Given the description of an element on the screen output the (x, y) to click on. 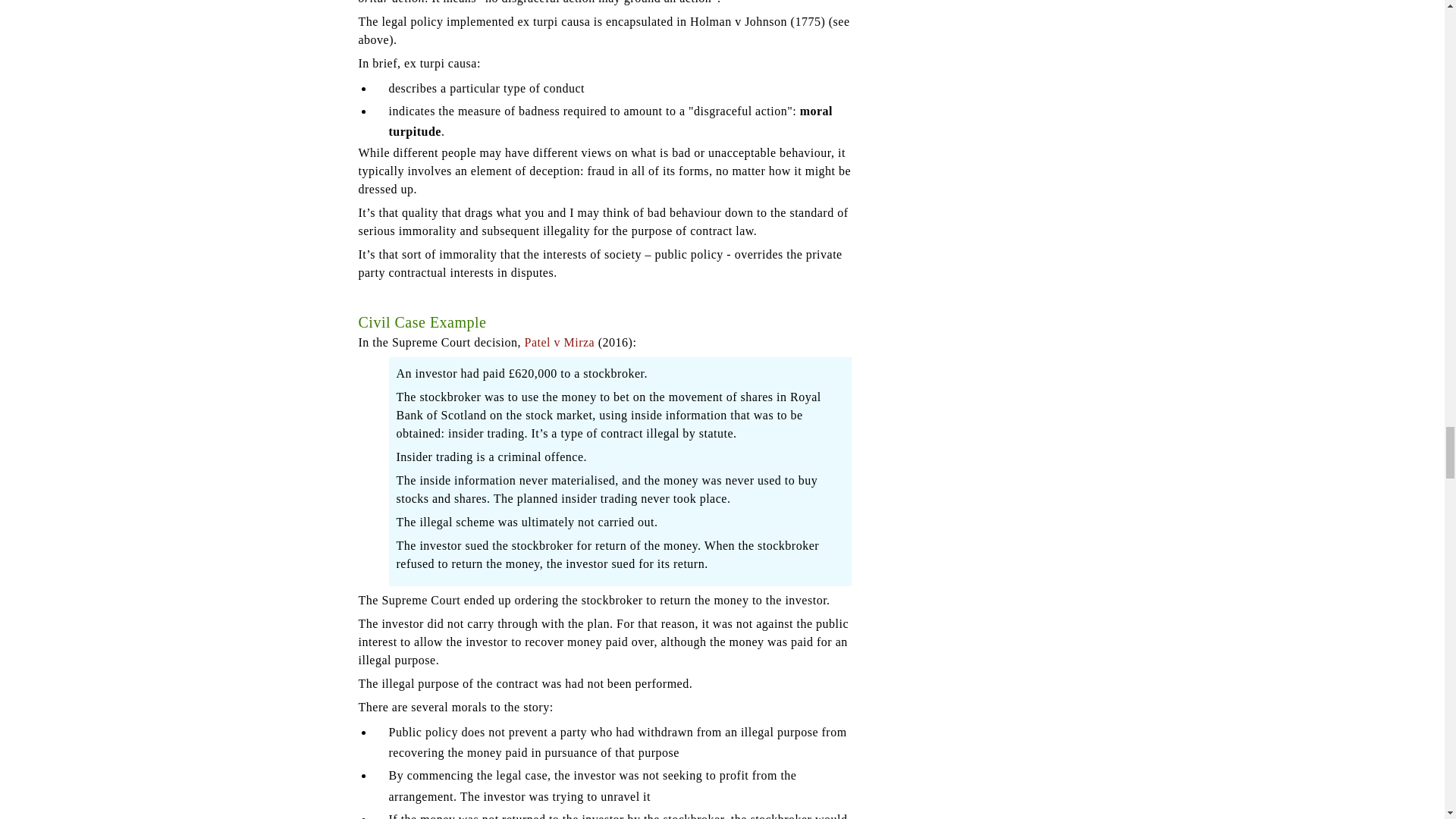
Patel v Mirza (559, 341)
